Given the description of an element on the screen output the (x, y) to click on. 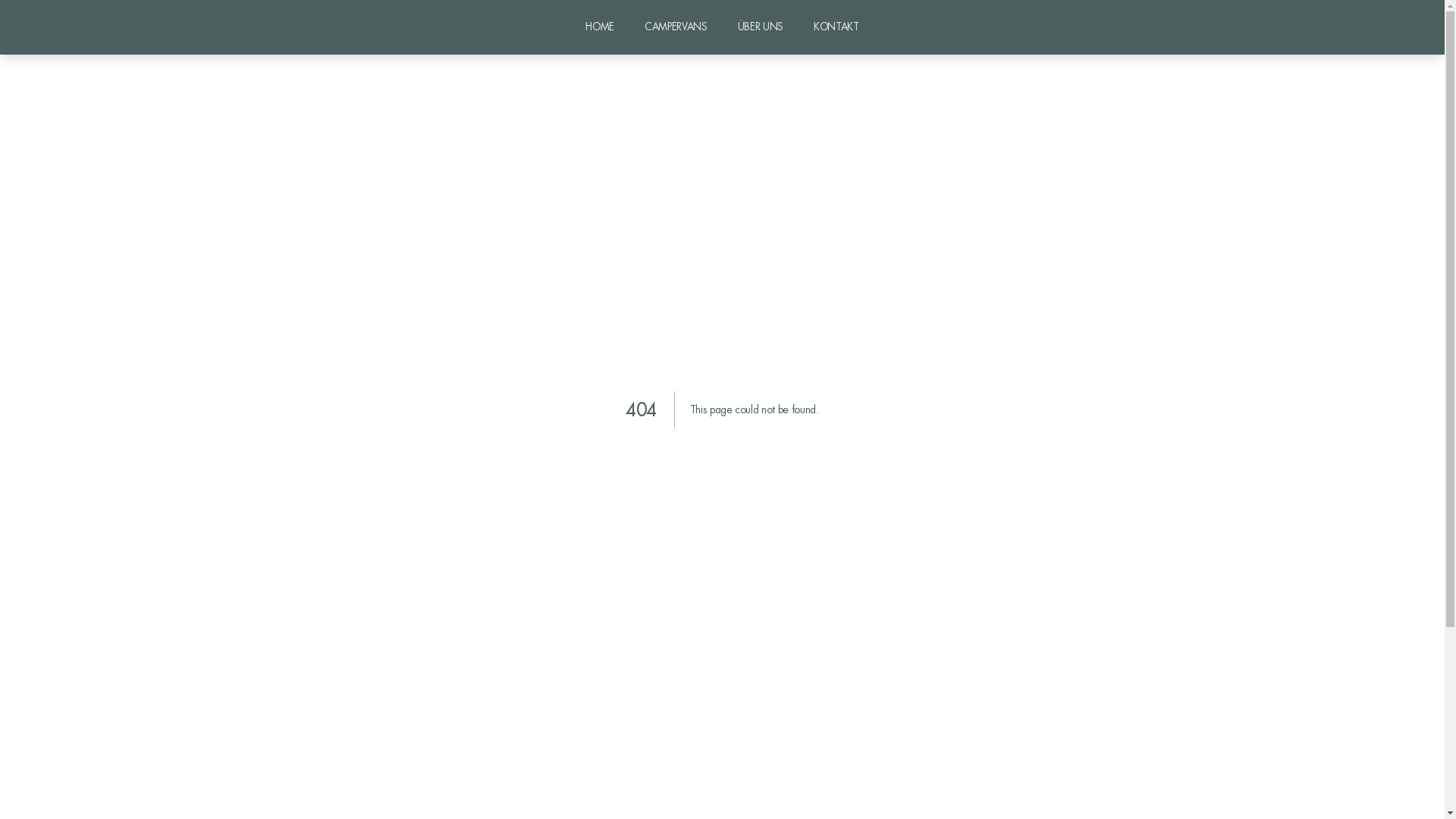
CAMPERVANS Element type: text (675, 26)
HOME Element type: text (599, 26)
KONTAKT Element type: text (836, 26)
